Given the description of an element on the screen output the (x, y) to click on. 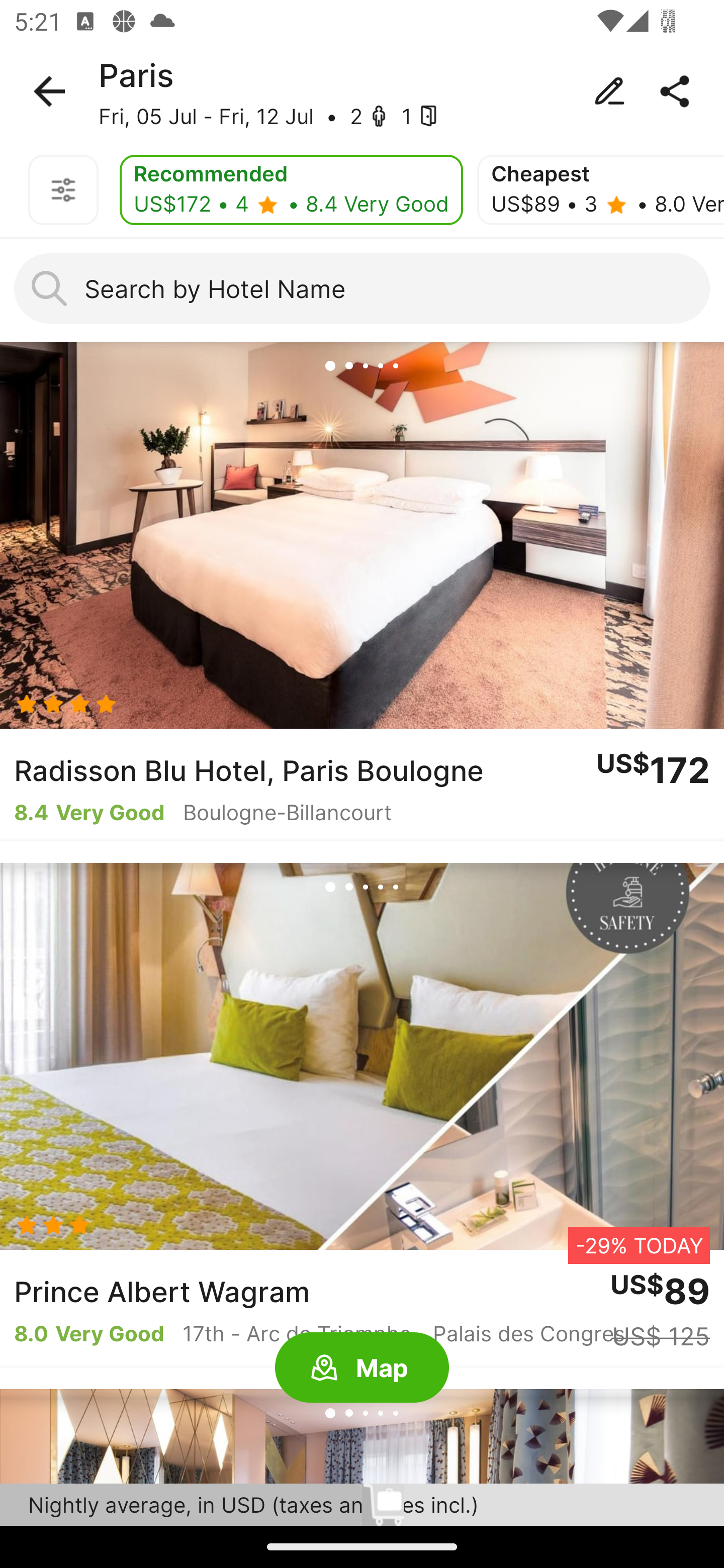
Paris Fri, 05 Jul - Fri, 12 Jul  •  2 -  1 - (361, 91)
Recommended  US$172  • 4 - • 8.4 Very Good (291, 190)
Cheapest US$89  • 3 - • 8.0 Very Good (600, 190)
Search by Hotel Name  (361, 288)
Map  (361, 1367)
